Given the description of an element on the screen output the (x, y) to click on. 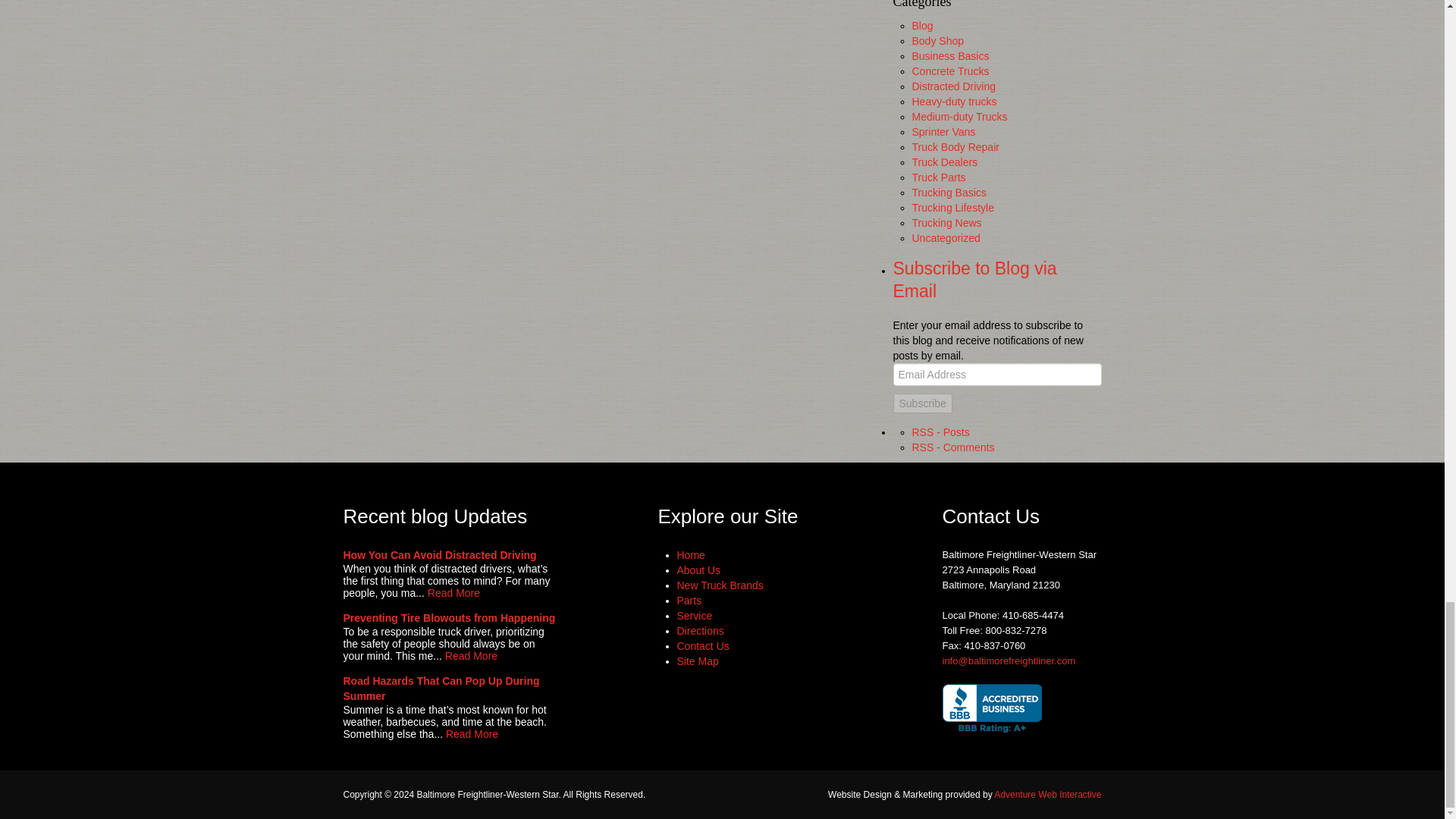
Subscribe to Comments (952, 447)
Subscribe to Posts (940, 431)
